Given the description of an element on the screen output the (x, y) to click on. 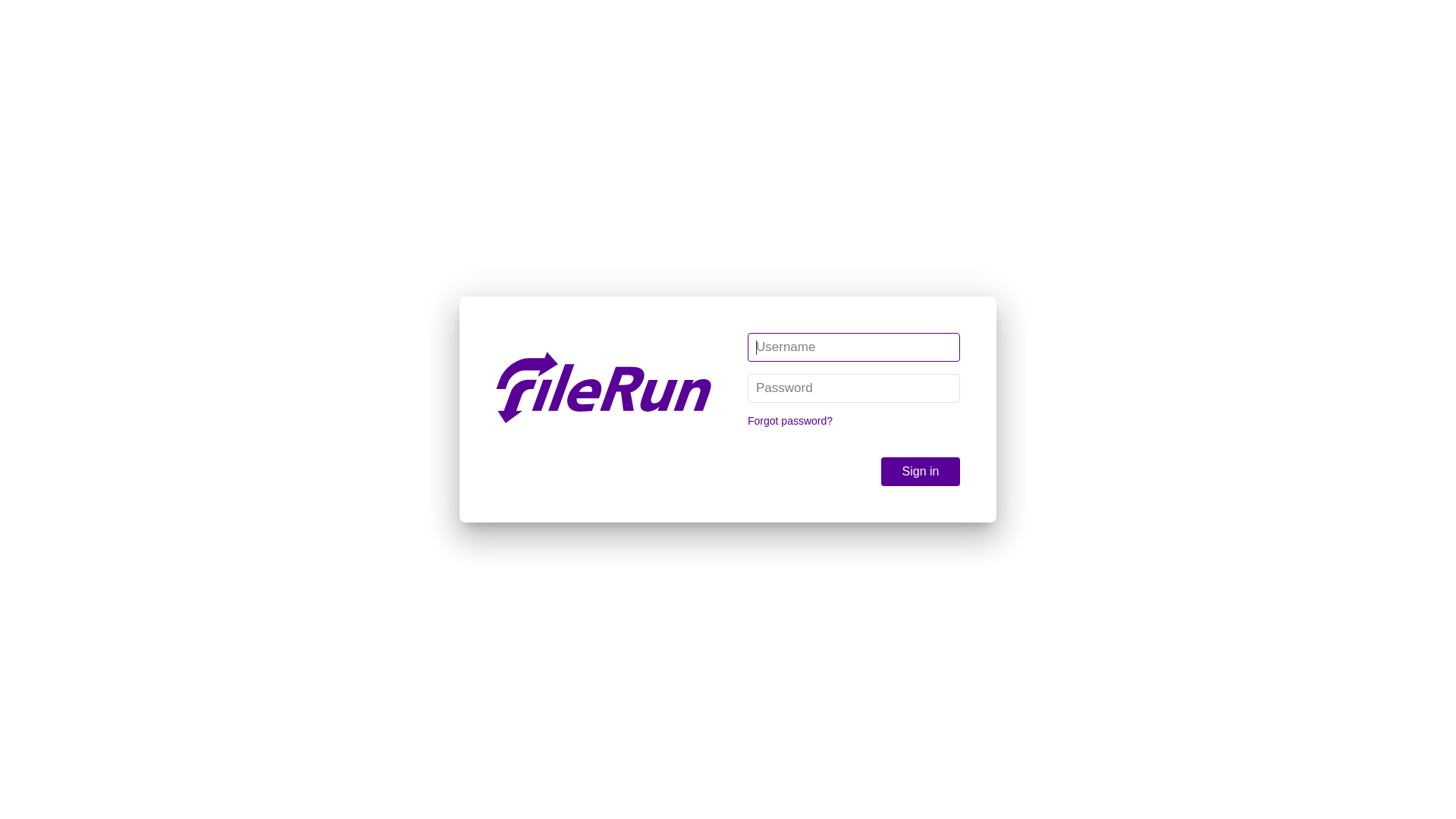
Forgot password? Element type: text (789, 420)
